Given the description of an element on the screen output the (x, y) to click on. 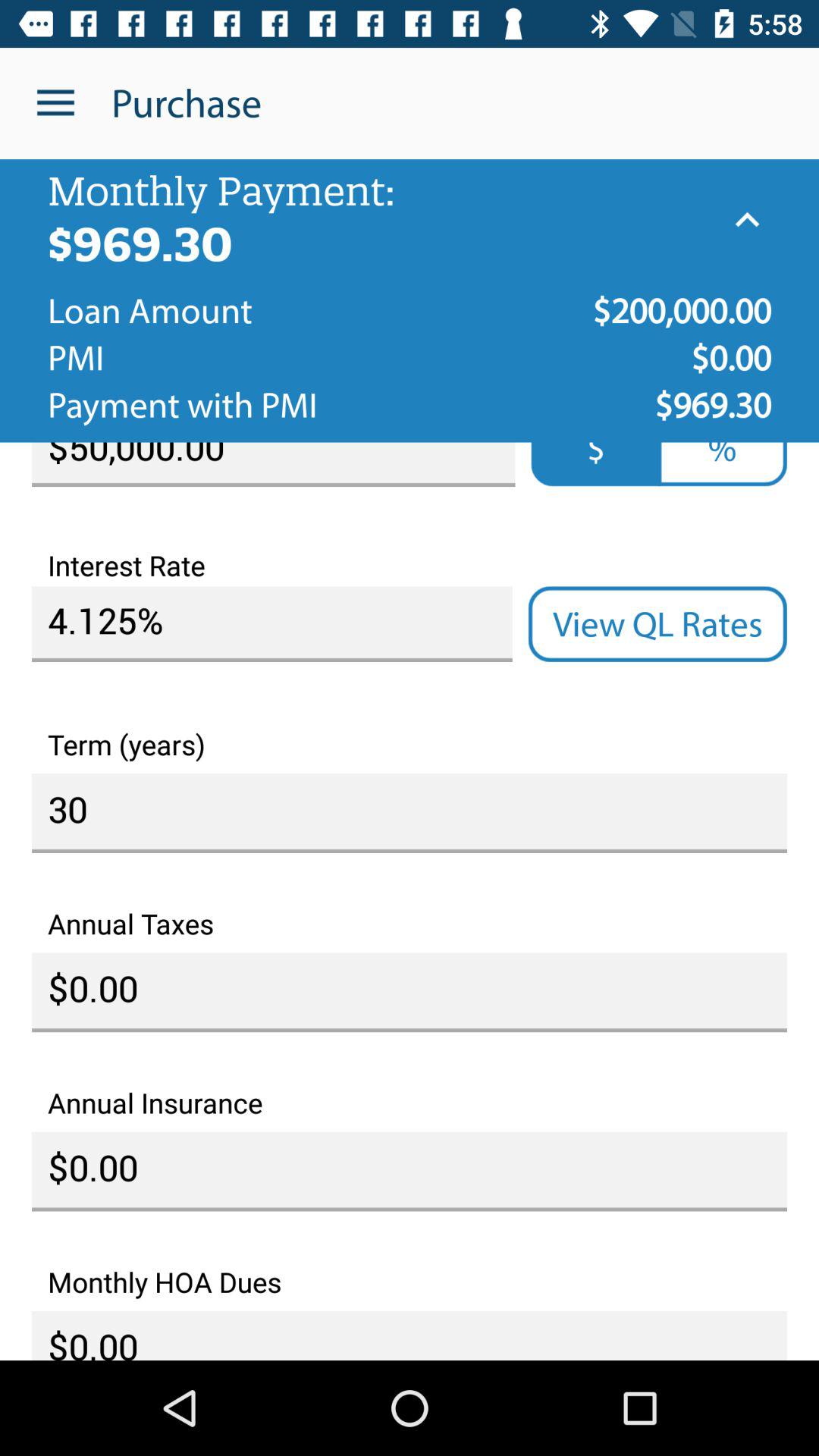
open the icon to the right of $50,000.00 (722, 464)
